Given the description of an element on the screen output the (x, y) to click on. 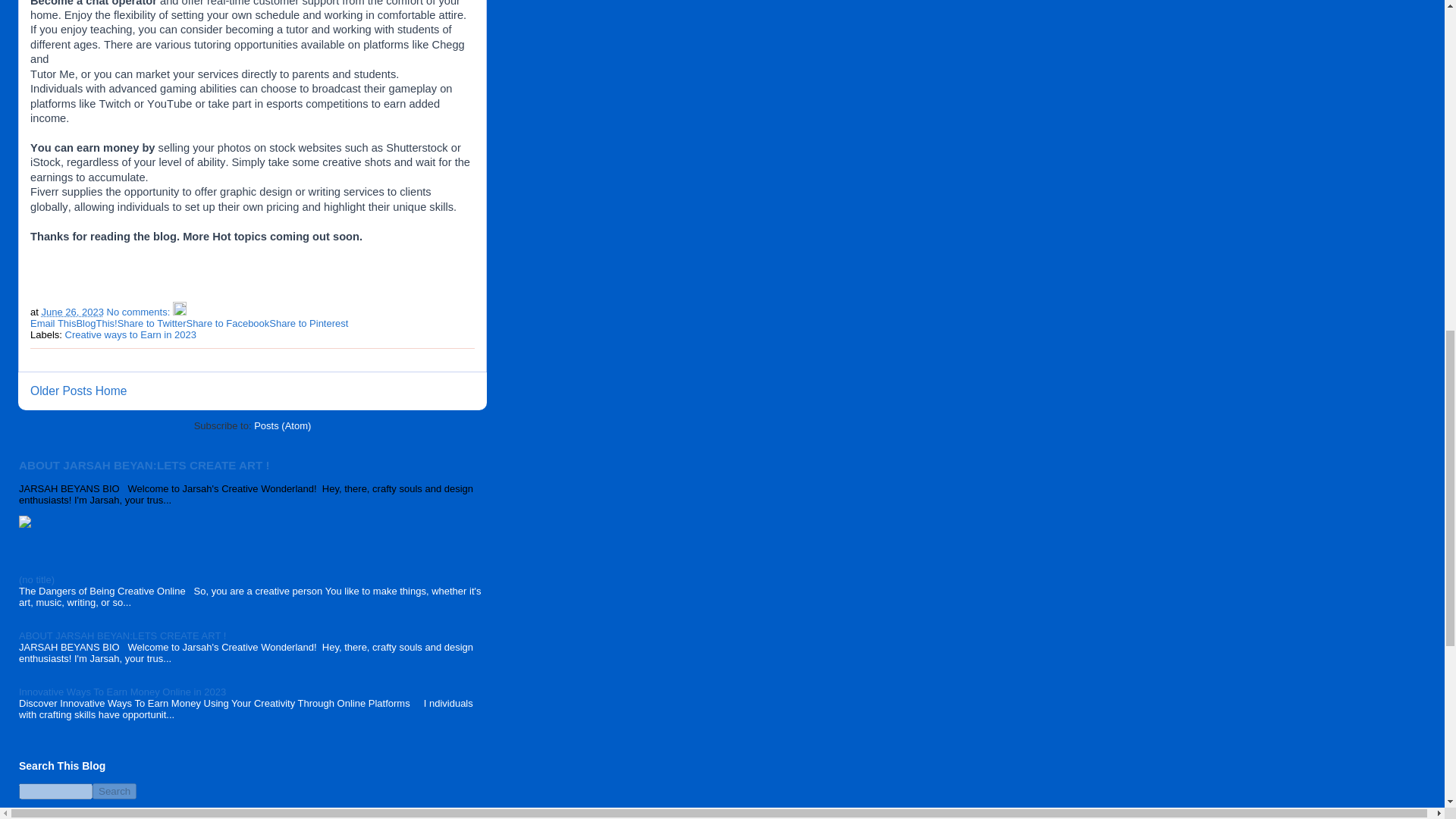
Innovative Ways To Earn Money Online in 2023 (121, 691)
Share to Twitter (151, 323)
Share to Pinterest (308, 323)
ABOUT JARSAH BEYAN:LETS CREATE ART ! (143, 464)
Search (114, 790)
BlogThis! (95, 323)
Older Posts (60, 390)
permanent link (71, 311)
BlogThis! (95, 323)
Older Posts (60, 390)
No comments: (138, 311)
Email This (52, 323)
ABOUT JARSAH BEYAN:LETS CREATE ART ! (121, 635)
Share to Pinterest (308, 323)
Search (114, 790)
